Given the description of an element on the screen output the (x, y) to click on. 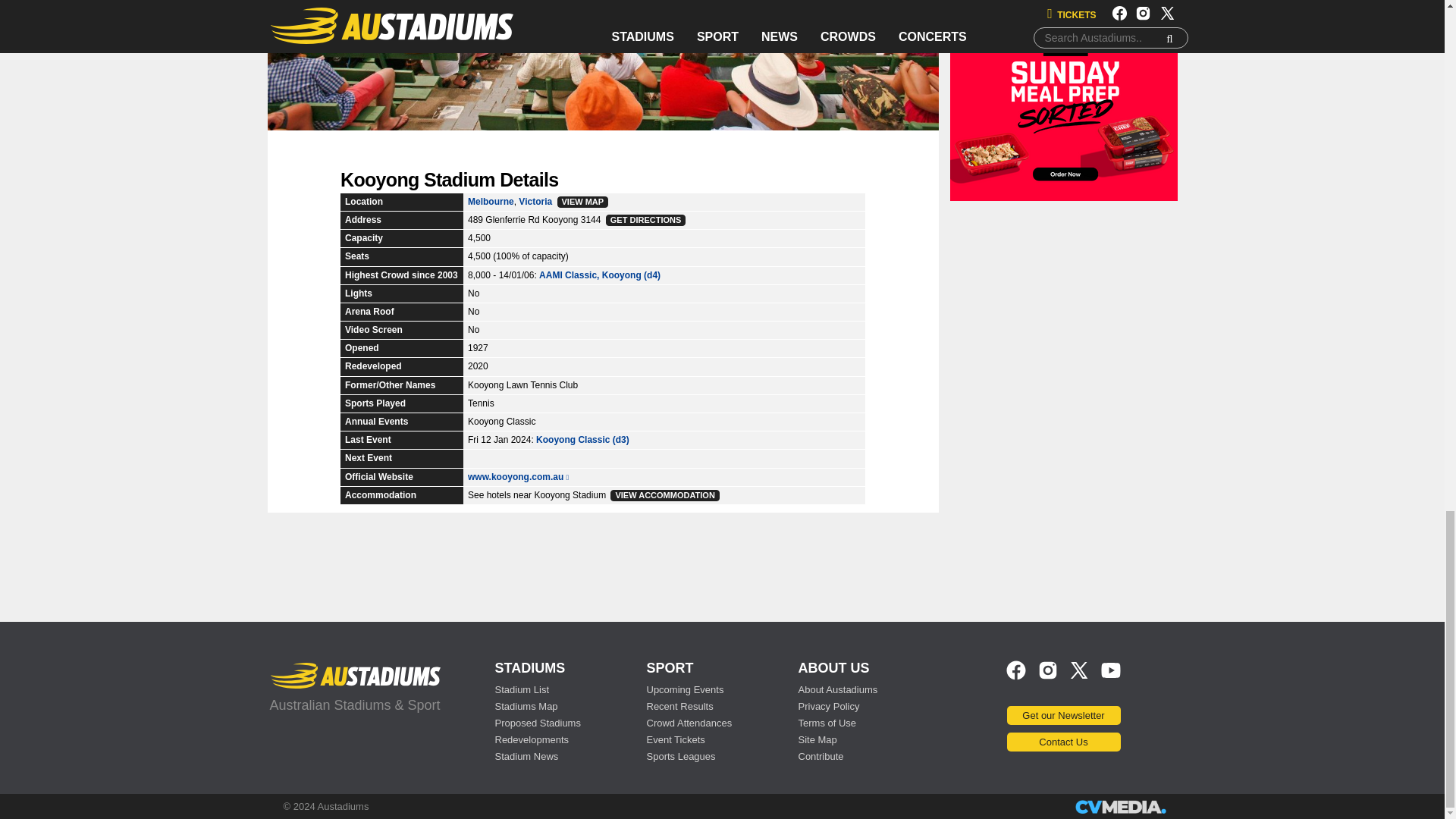
Instagram (1047, 681)
YouTube (1110, 681)
Facebook (1015, 681)
Twitter X (1078, 681)
